Given the description of an element on the screen output the (x, y) to click on. 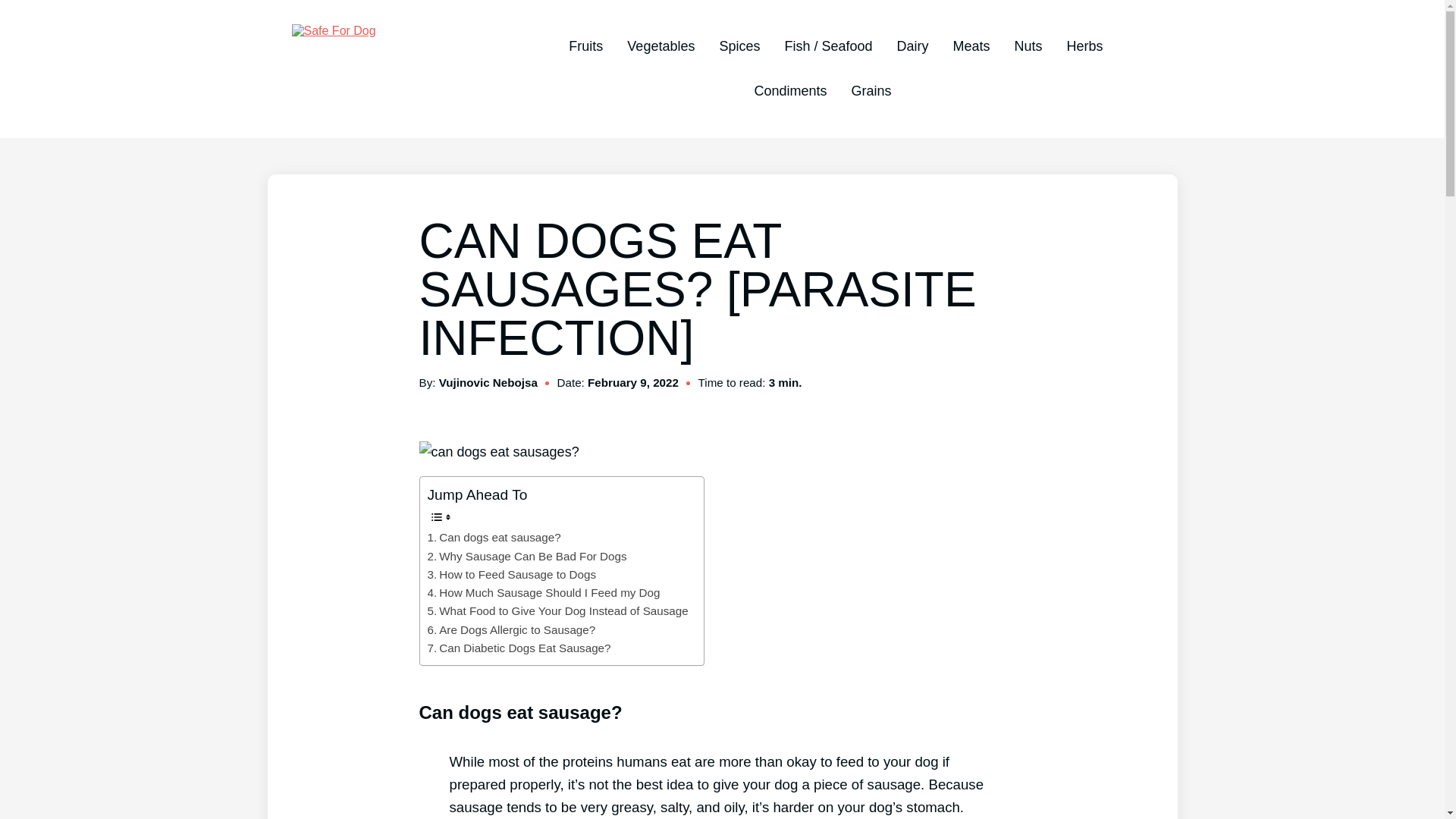
What Food to Give Your Dog Instead of Sausage (558, 610)
Can dogs eat sausage? (494, 537)
Fruits (585, 46)
How Much Sausage Should I Feed my Dog (544, 592)
Can Diabetic Dogs Eat Sausage? (519, 648)
Can Diabetic Dogs Eat Sausage? (519, 648)
How Much Sausage Should I Feed my Dog (544, 592)
Dairy (912, 46)
What Food to Give Your Dog Instead of Sausage (558, 610)
Are Dogs Allergic to Sausage? (511, 629)
